Given the description of an element on the screen output the (x, y) to click on. 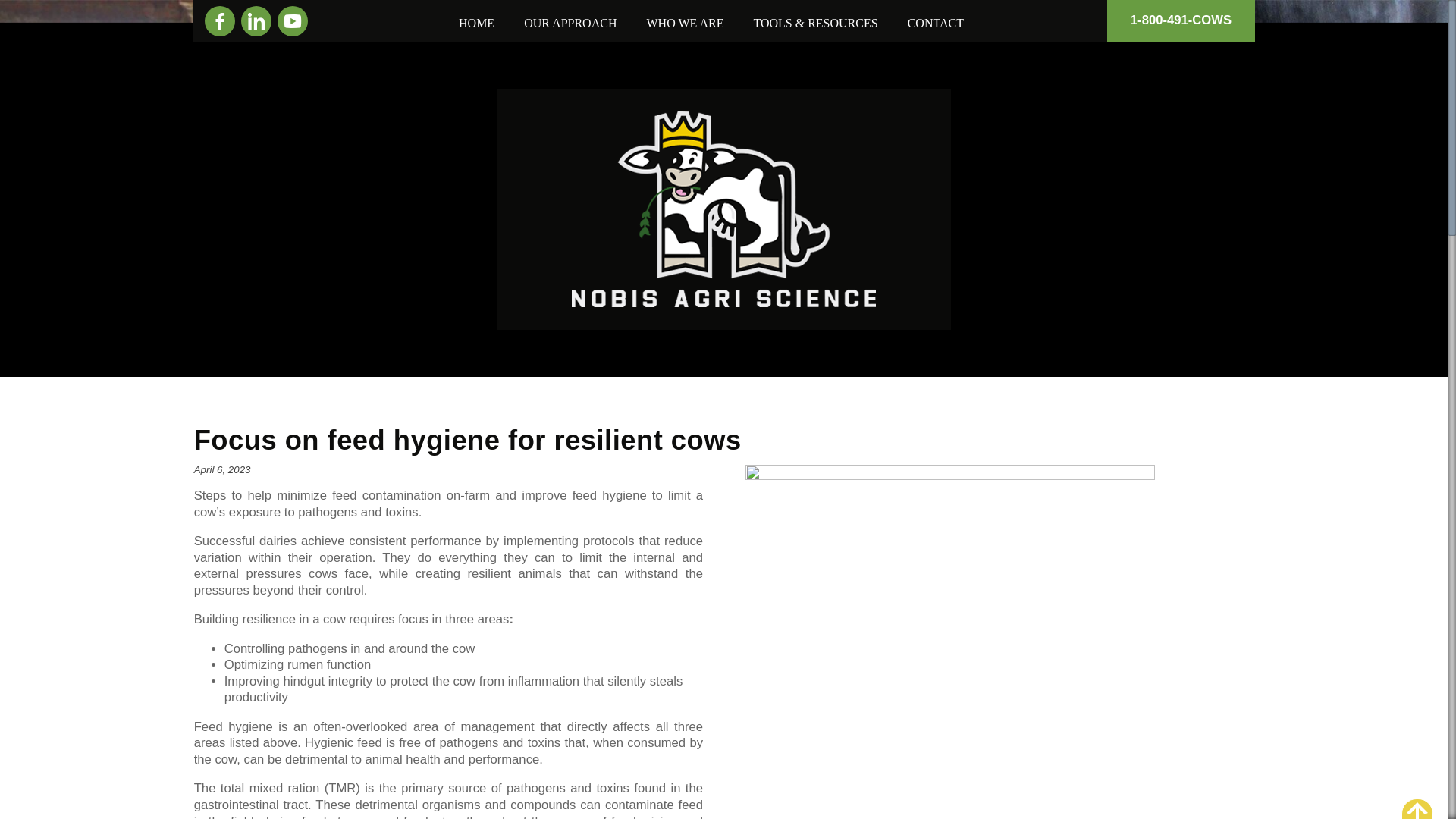
1-800-491-COWS (1180, 20)
CONTACT (936, 22)
OUR APPROACH (569, 22)
WHO WE ARE (684, 22)
21.5.12 (949, 612)
HOME (475, 22)
